Given the description of an element on the screen output the (x, y) to click on. 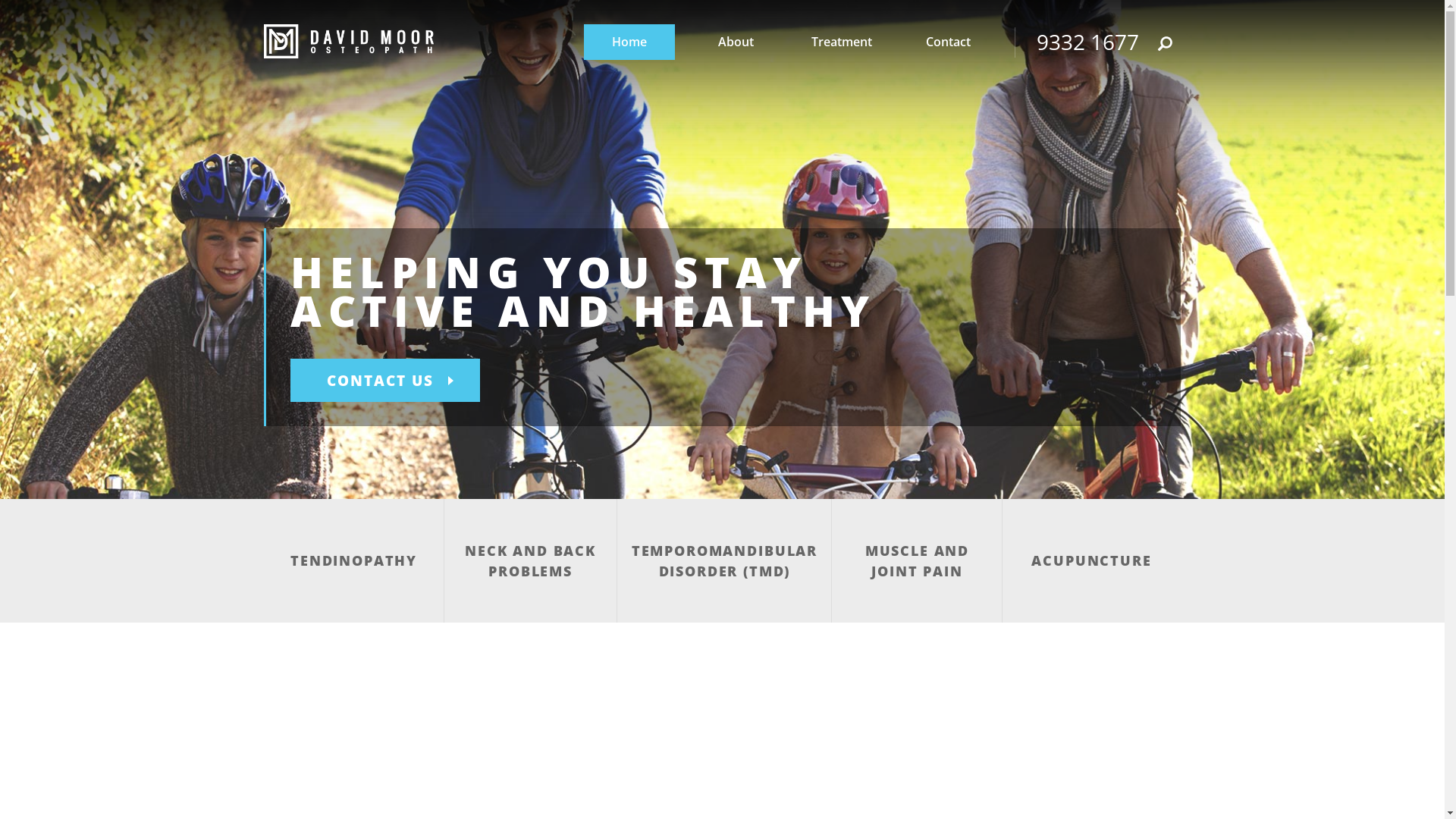
ACUPUNCTURE Element type: text (1090, 560)
Treatment Element type: text (841, 41)
TEMPOROMANDIBULAR DISORDER (TMD) Element type: text (723, 560)
TENDINOPATHY Element type: text (352, 560)
NECK AND BACK PROBLEMS Element type: text (530, 560)
CONTACT US Element type: text (384, 380)
Home Element type: text (628, 41)
Contact Element type: text (947, 41)
MUSCLE AND JOINT PAIN Element type: text (916, 560)
About Element type: text (735, 41)
9332 1677 Element type: text (1087, 41)
